Given the description of an element on the screen output the (x, y) to click on. 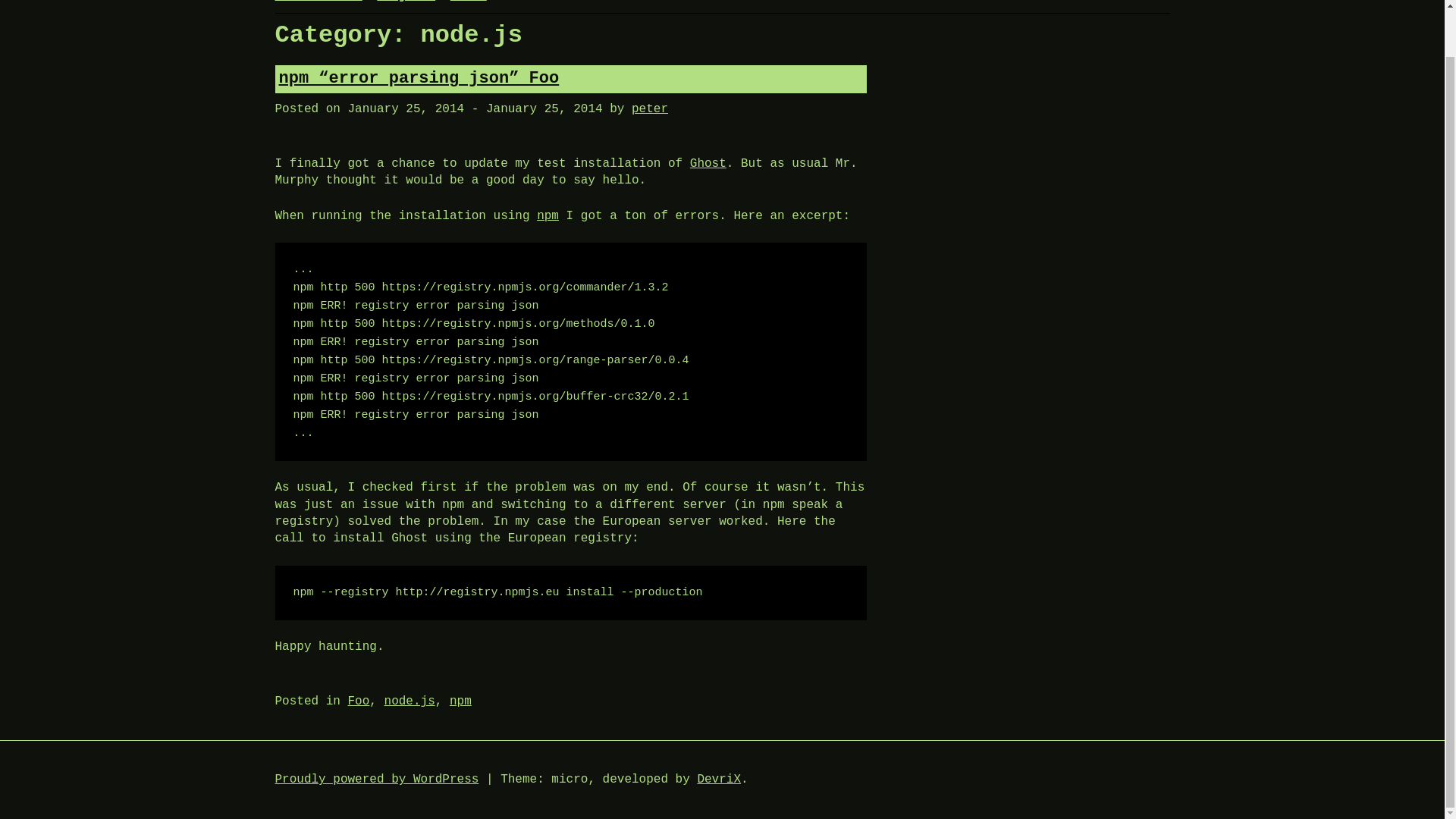
Ghost (708, 163)
About (467, 1)
The RFC 3092 (318, 1)
Proudly powered by WordPress (377, 779)
Projects (406, 1)
npm (460, 701)
node.js (409, 701)
npm (548, 215)
Foo (358, 701)
DevriX (719, 779)
peter (649, 109)
